Given the description of an element on the screen output the (x, y) to click on. 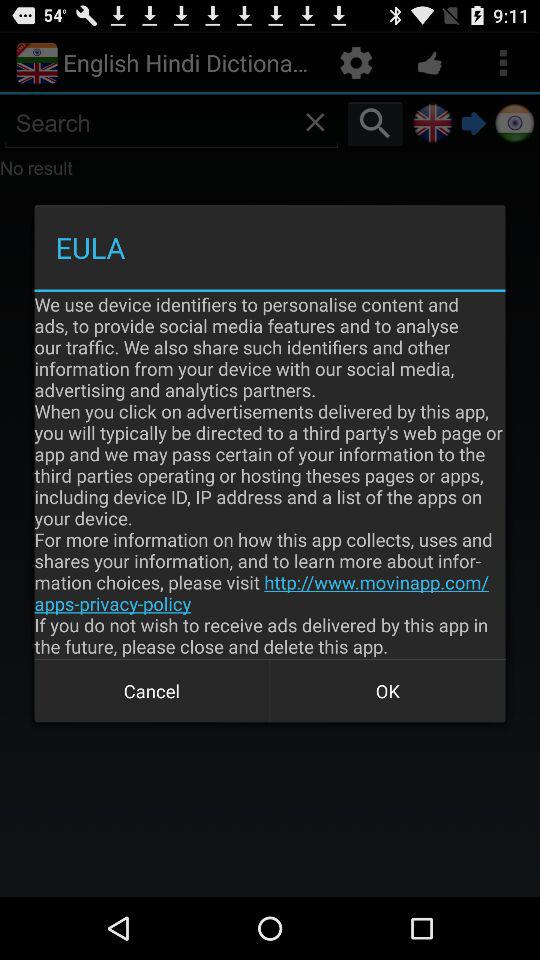
press the button next to the ok (151, 690)
